Given the description of an element on the screen output the (x, y) to click on. 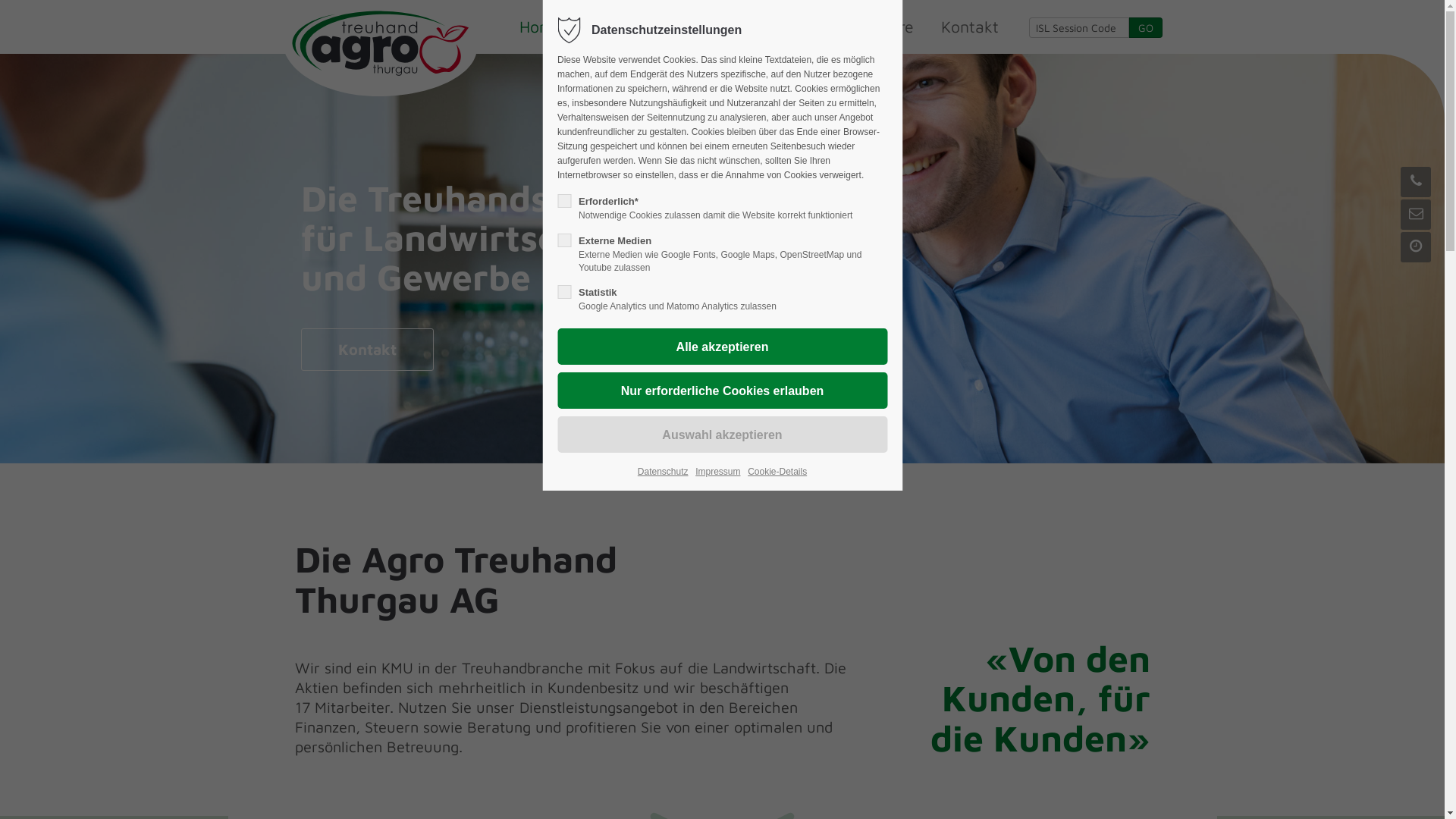
Impressum Element type: text (717, 471)
Cookie-Details Element type: text (776, 471)
GO Element type: text (1144, 27)
Software Element type: text (879, 26)
Telefon Element type: hover (1415, 181)
Dienstleistungen Element type: text (758, 26)
Auswahl akzeptieren Element type: text (722, 434)
Alle akzeptieren Element type: text (722, 346)
Kontakt Element type: text (367, 349)
Kontakt Element type: text (968, 26)
Inquire Element type: hover (1415, 214)
Home Element type: text (539, 26)
Datenschutz Element type: text (662, 471)
Nur erforderliche Cookies erlauben Element type: text (722, 390)
